Given the description of an element on the screen output the (x, y) to click on. 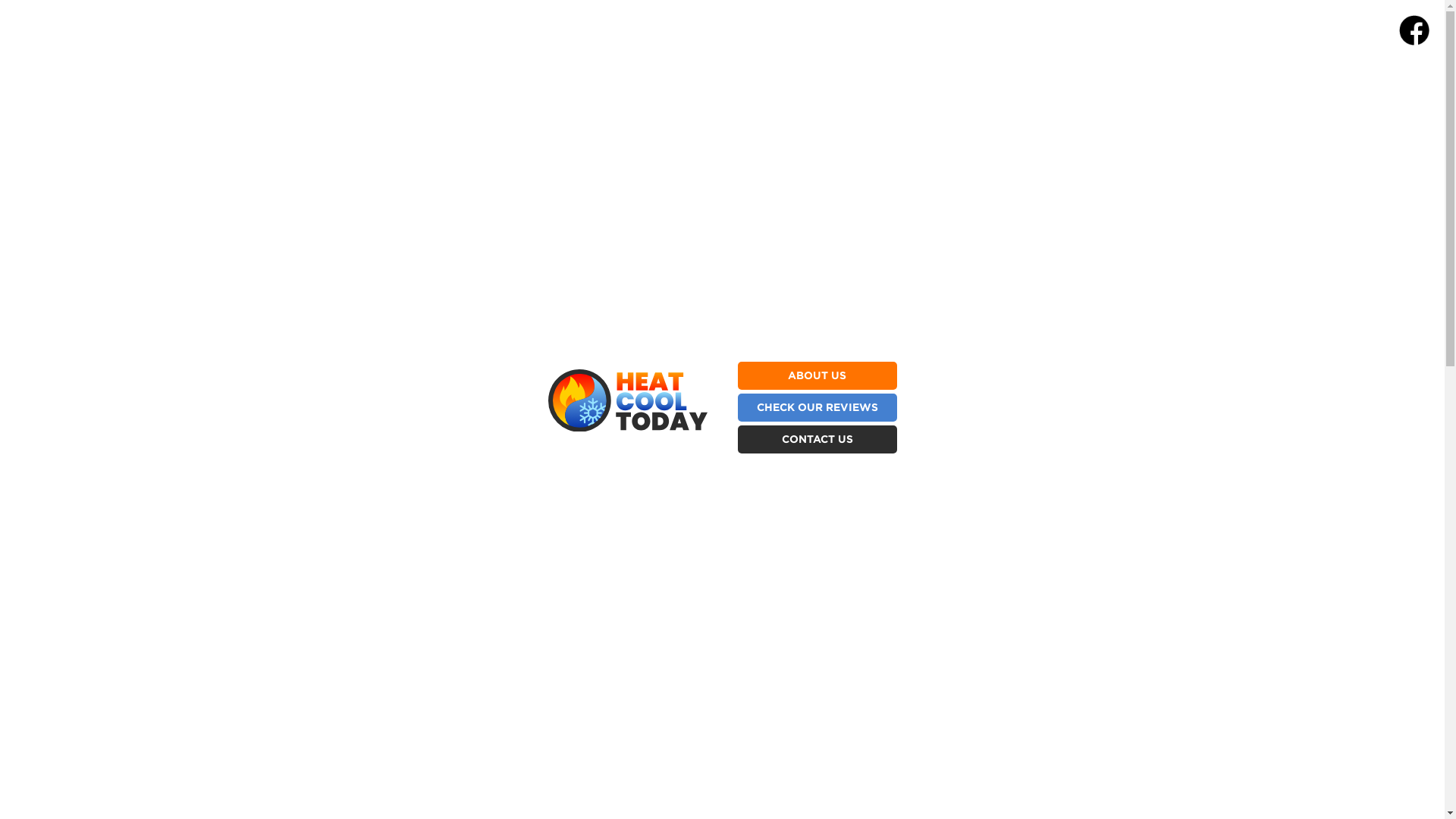
ABOUT US Element type: text (816, 374)
CONTACT US Element type: text (816, 438)
CHECK OUR REVIEWS Element type: text (817, 406)
